Given the description of an element on the screen output the (x, y) to click on. 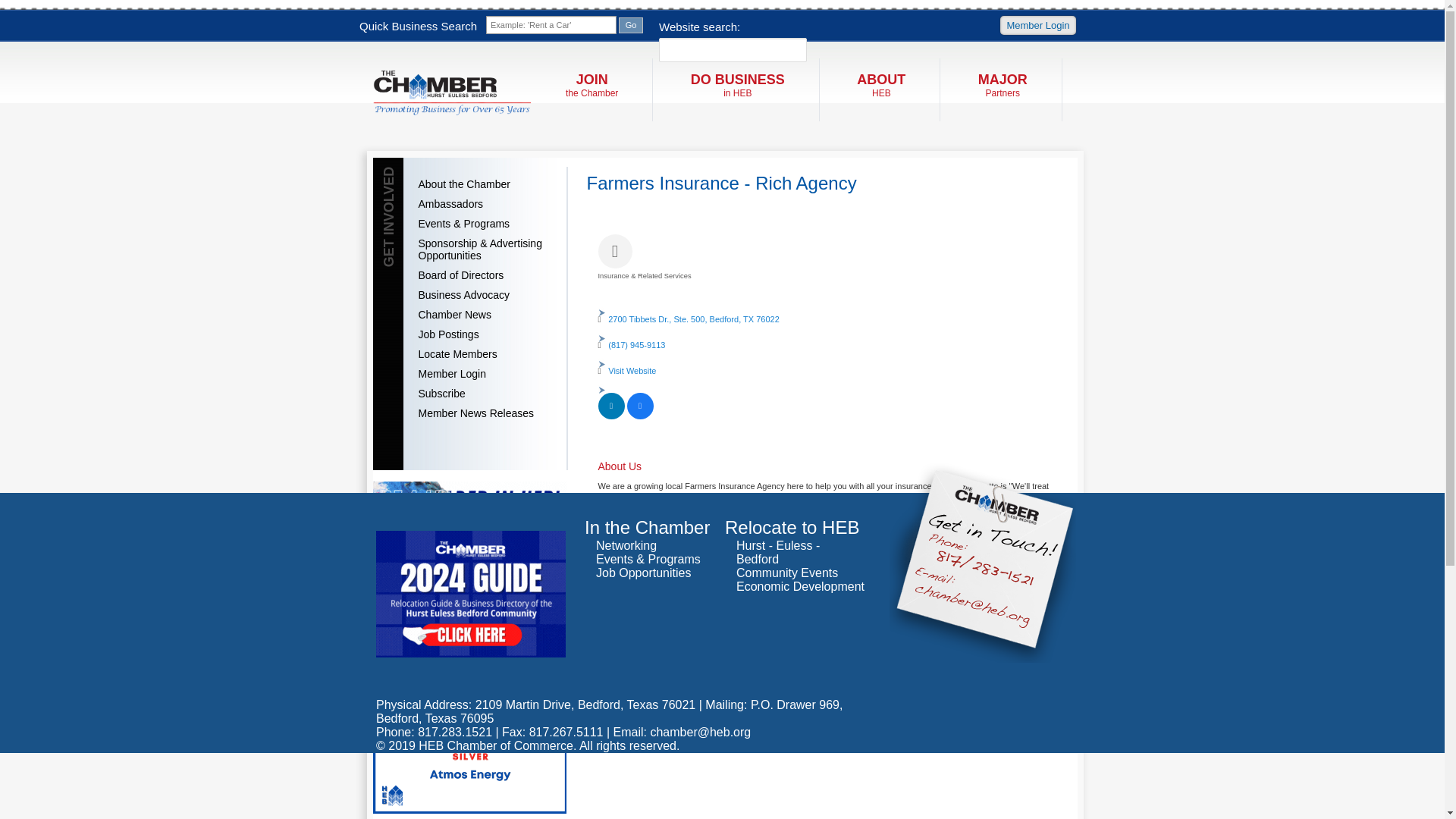
Subscribe (485, 393)
Go (630, 24)
Locate Members (485, 353)
Job Postings (485, 333)
Business Advocacy (485, 294)
Member Login (1037, 25)
Board of Directors (485, 275)
Go (630, 24)
Member News Releases (485, 413)
Go (737, 85)
View on LinkedIn (630, 24)
Ambassadors (610, 415)
About the Chamber (880, 85)
